Given the description of an element on the screen output the (x, y) to click on. 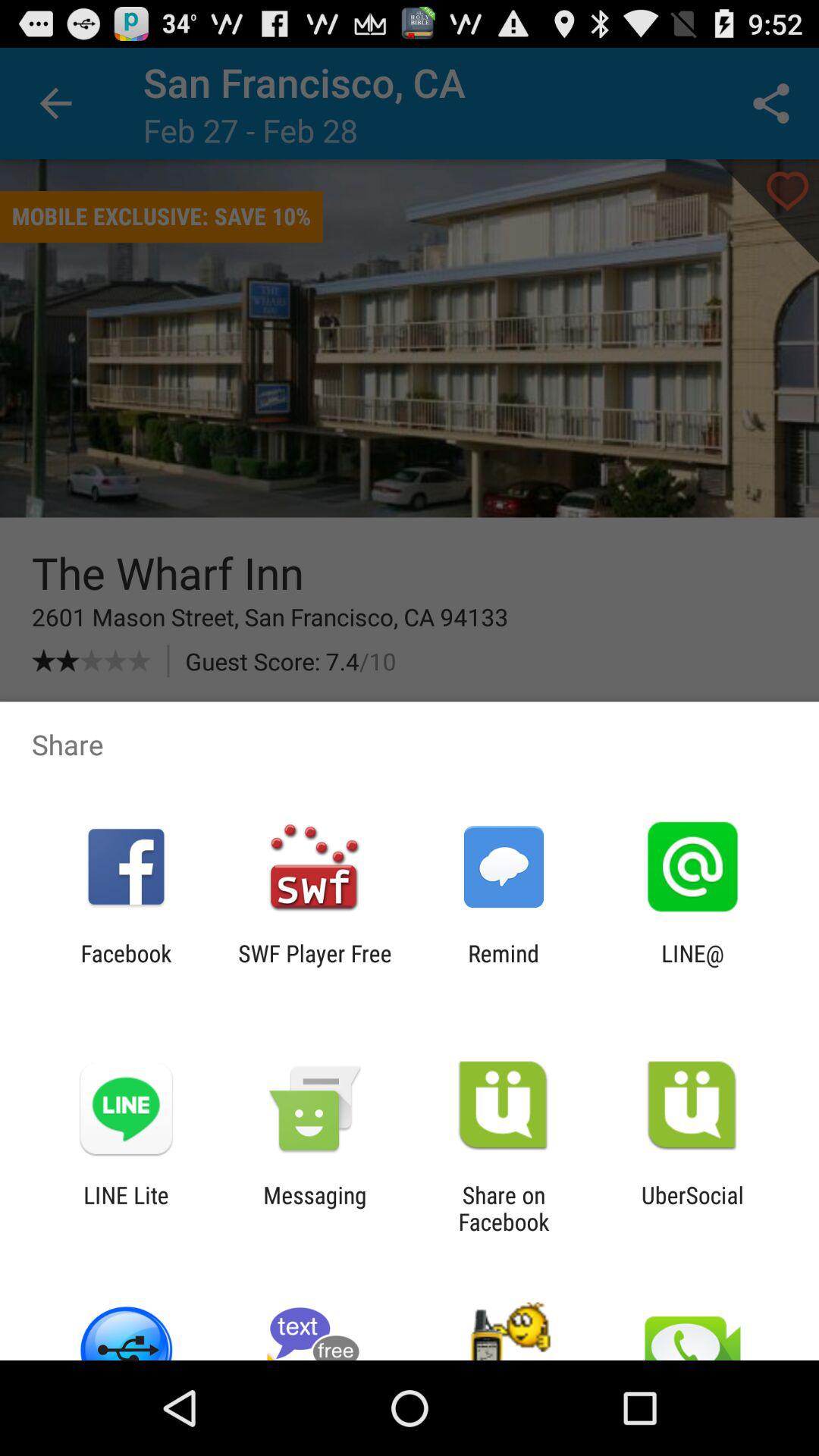
press the remind app (503, 966)
